Given the description of an element on the screen output the (x, y) to click on. 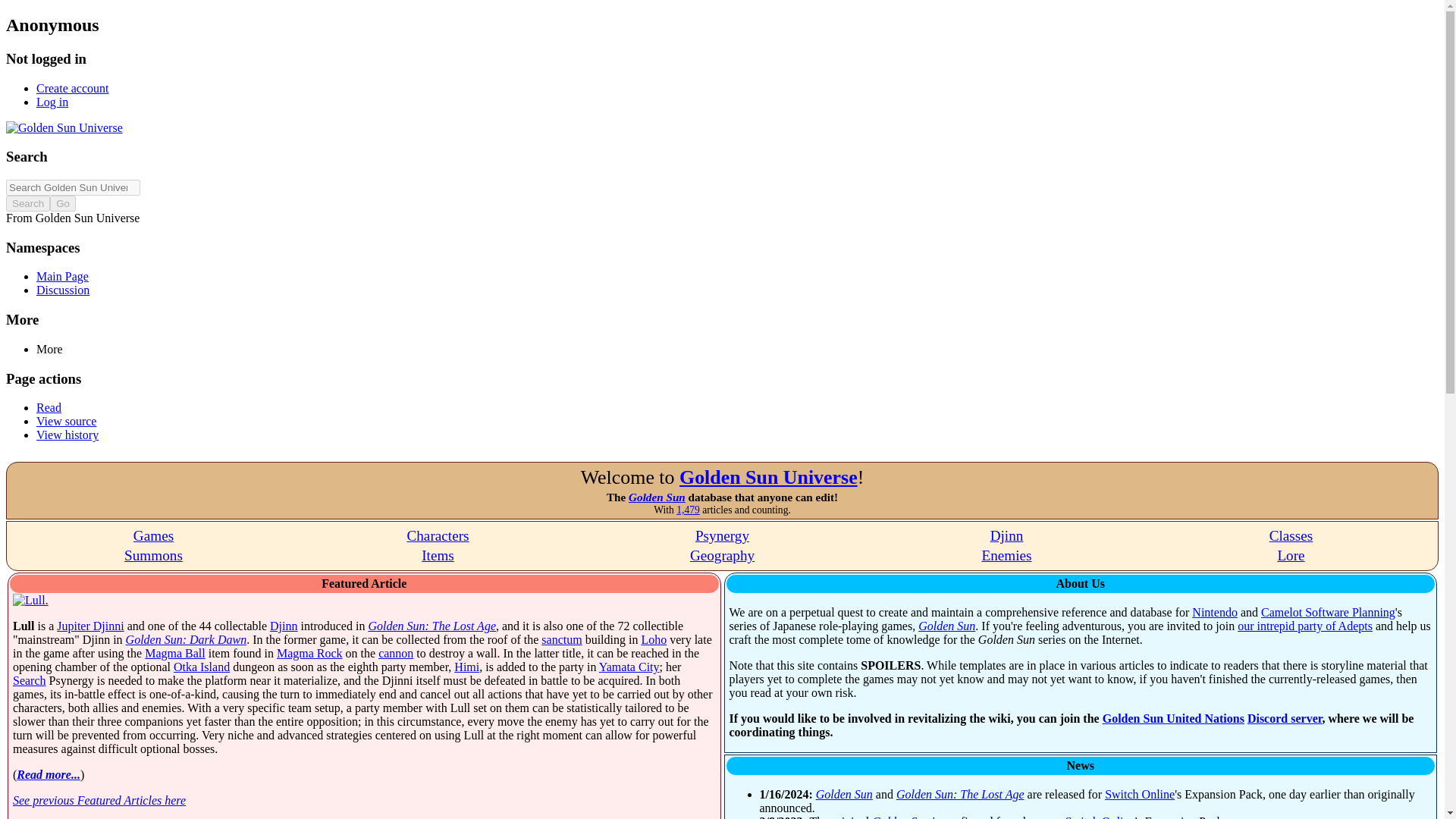
Yamata City (628, 666)
Otka Island (201, 666)
See previous Featured Articles here (99, 799)
cannon (395, 653)
Go (62, 203)
Search (27, 203)
Classes (1291, 535)
Golden Sun series (656, 496)
Golden Sun: The Lost Age (432, 625)
Search (27, 203)
Golden Sun Universe:About (768, 477)
Summons (153, 555)
1,479 (688, 509)
Go (62, 203)
Go to a page with this exact name if it exists (62, 203)
